Given the description of an element on the screen output the (x, y) to click on. 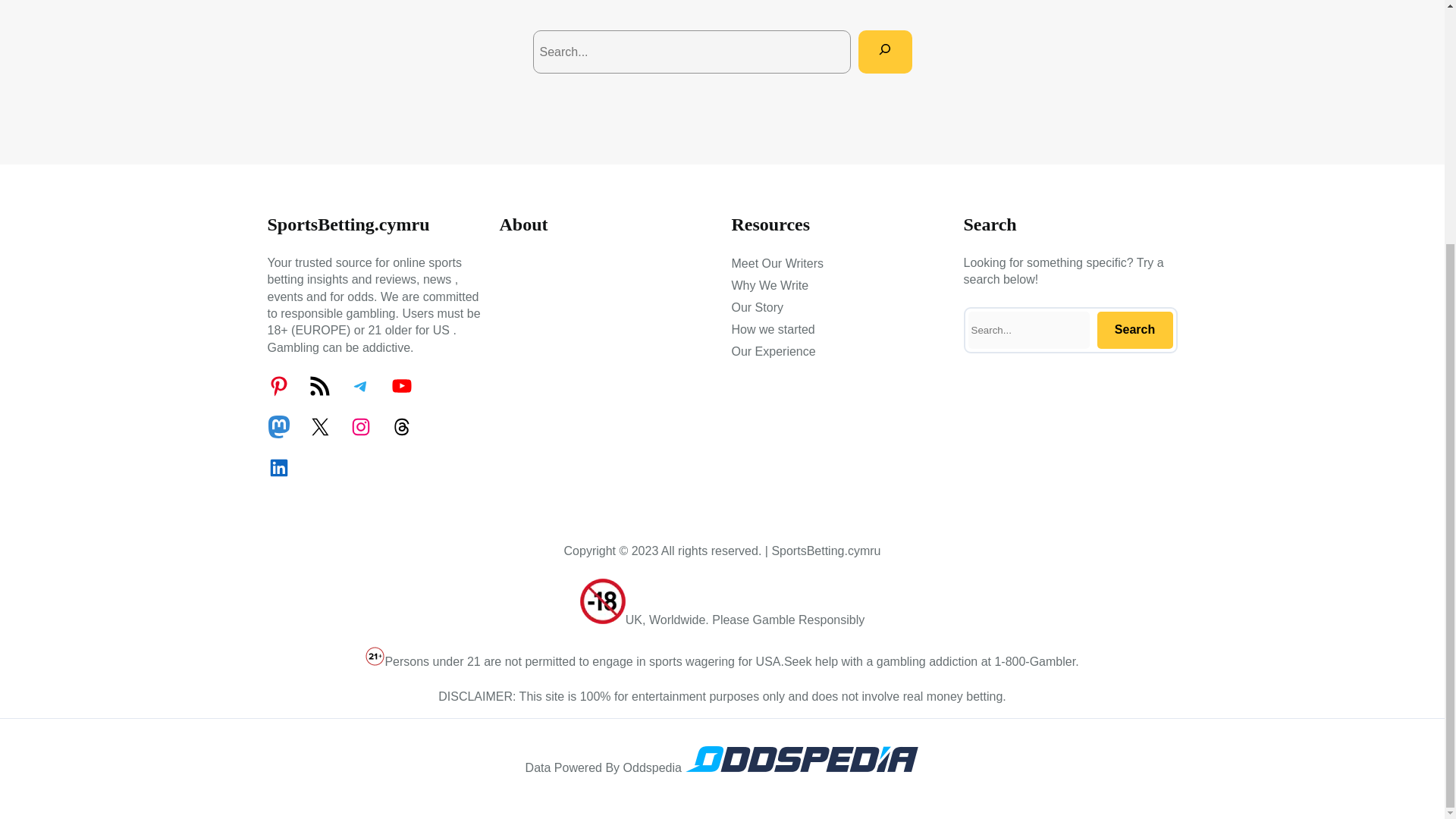
Oddspedia (801, 759)
Oddspedia (801, 767)
X (318, 426)
YouTube (401, 385)
Pinterest (277, 385)
Threads (401, 426)
Telegram (360, 385)
Mastodon (277, 426)
How we started (771, 330)
LinkedIn (277, 467)
Meet Our Writers (777, 263)
RSS Feed (318, 385)
Our Story (756, 307)
Instagram (360, 426)
Our Experience (772, 352)
